Given the description of an element on the screen output the (x, y) to click on. 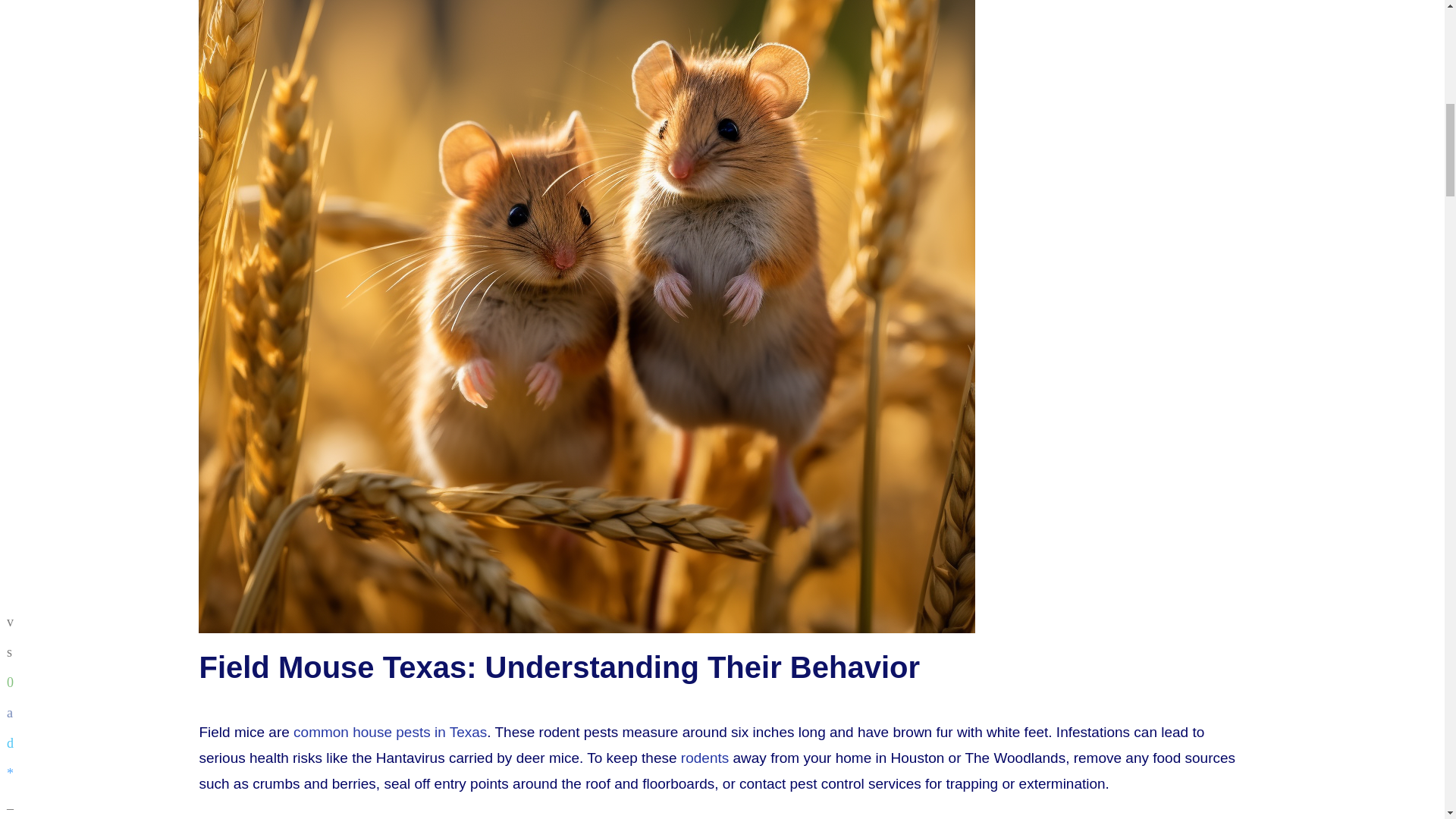
rodents (705, 757)
rodents (705, 757)
common house pests in Texas (390, 731)
